Given the description of an element on the screen output the (x, y) to click on. 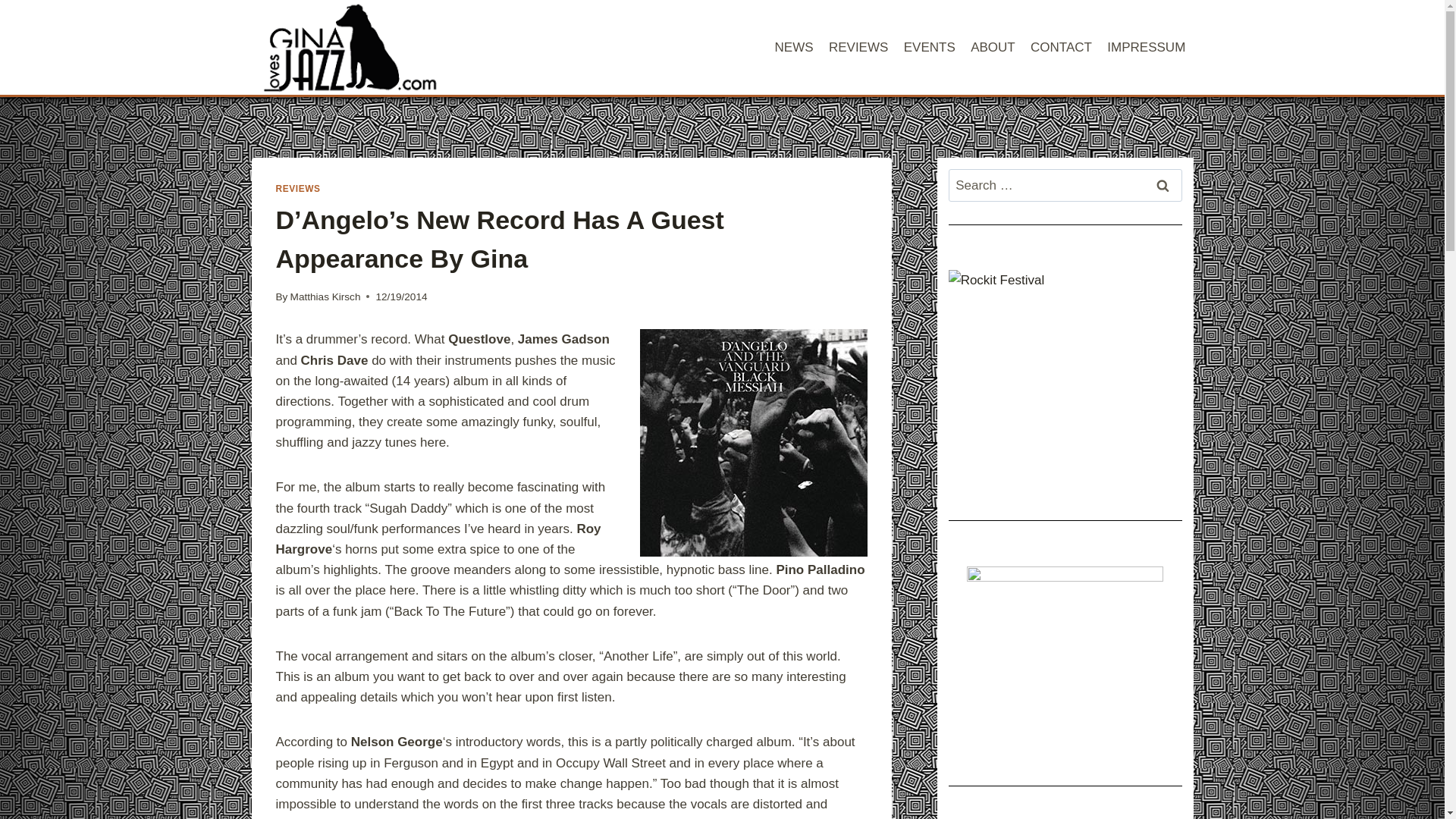
REVIEWS (858, 47)
REVIEWS (298, 188)
EVENTS (929, 47)
ABOUT (992, 47)
Search (1161, 184)
Matthias Kirsch (325, 296)
NEWS (794, 47)
Search (1161, 184)
CONTACT (1061, 47)
IMPRESSUM (1145, 47)
